Given the description of an element on the screen output the (x, y) to click on. 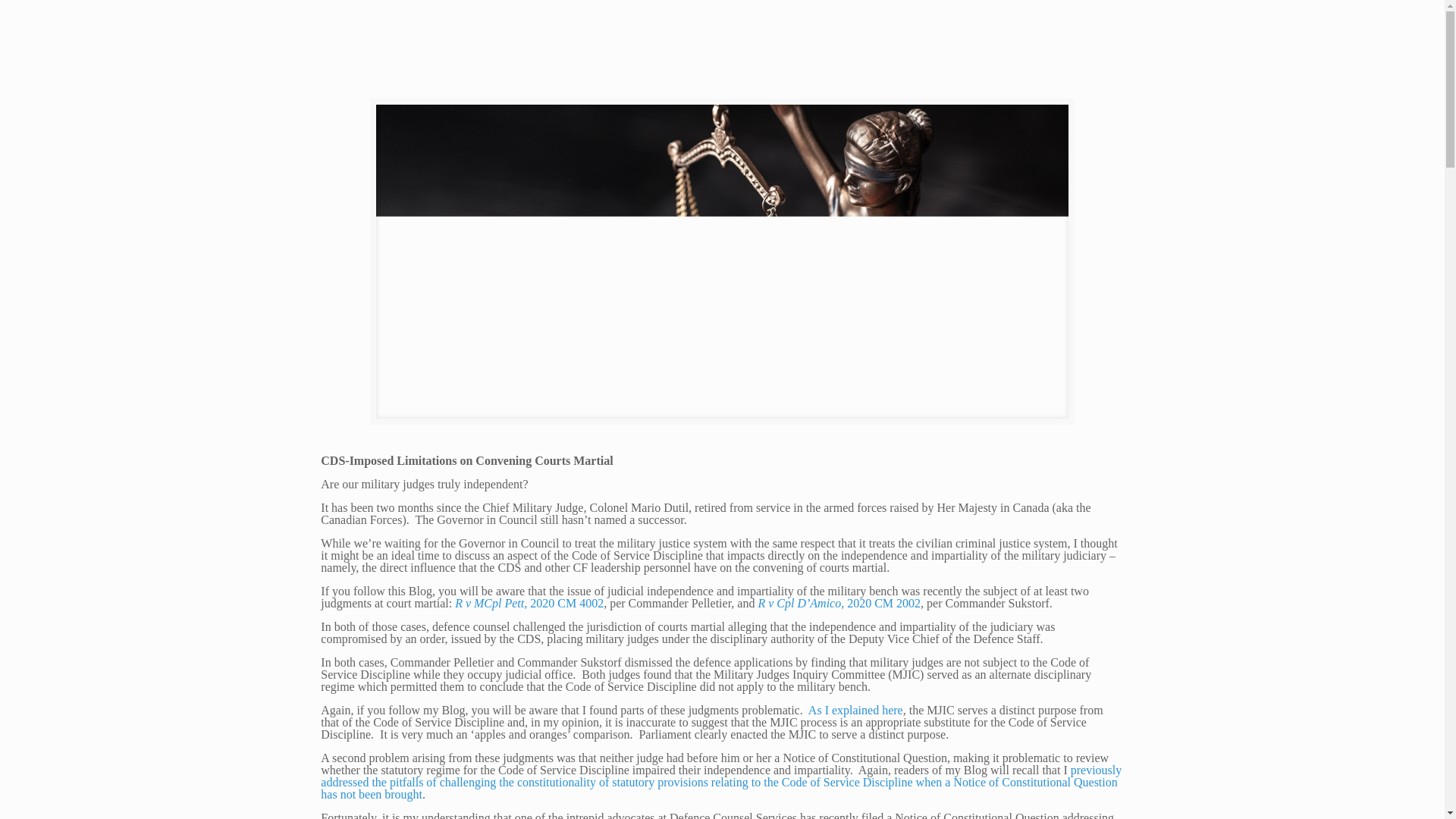
R v MCpl Pett, 2020 CM 4002 (529, 603)
As I explained here (855, 709)
